Given the description of an element on the screen output the (x, y) to click on. 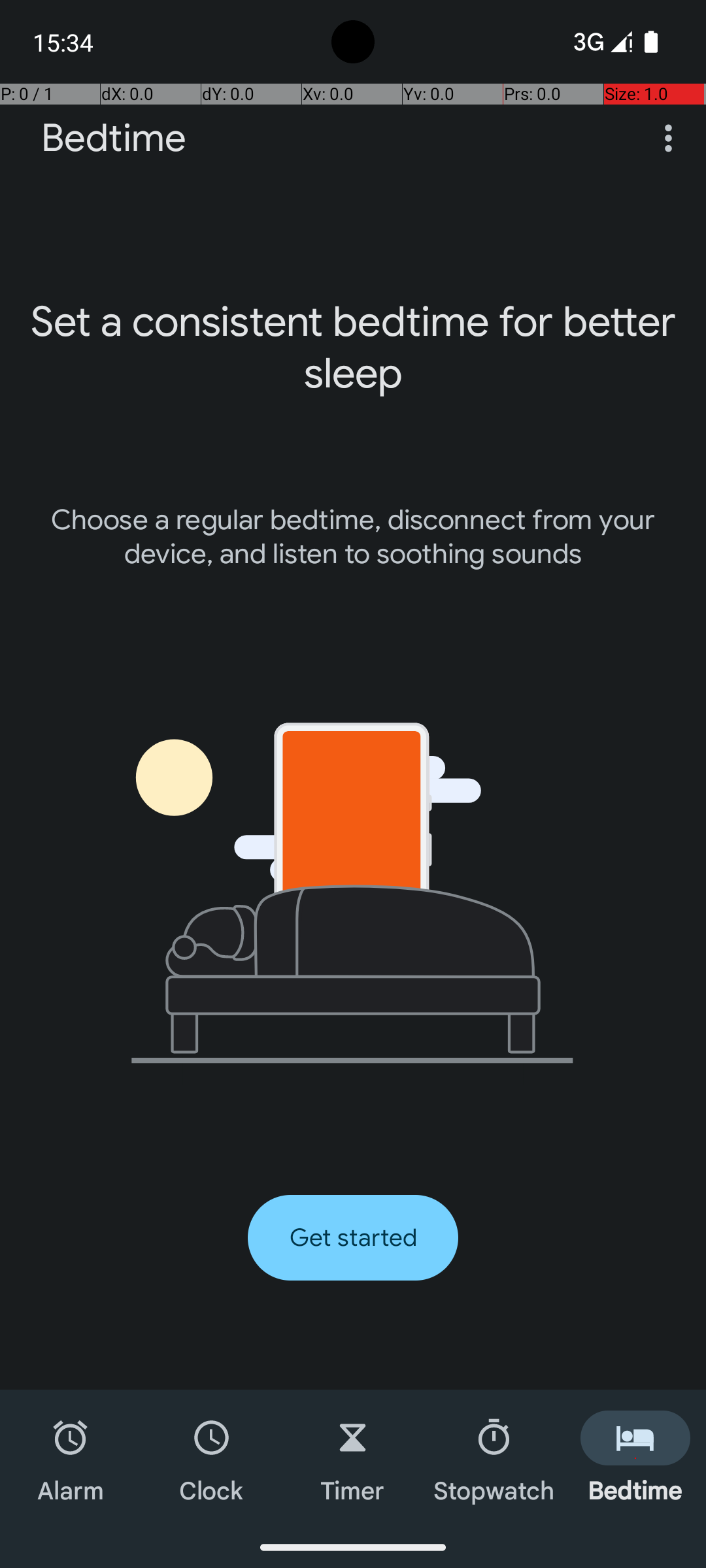
Set a consistent bedtime for better sleep Element type: android.widget.TextView (352, 347)
Choose a regular bedtime, disconnect from your device, and listen to soothing sounds Element type: android.widget.TextView (352, 536)
